Given the description of an element on the screen output the (x, y) to click on. 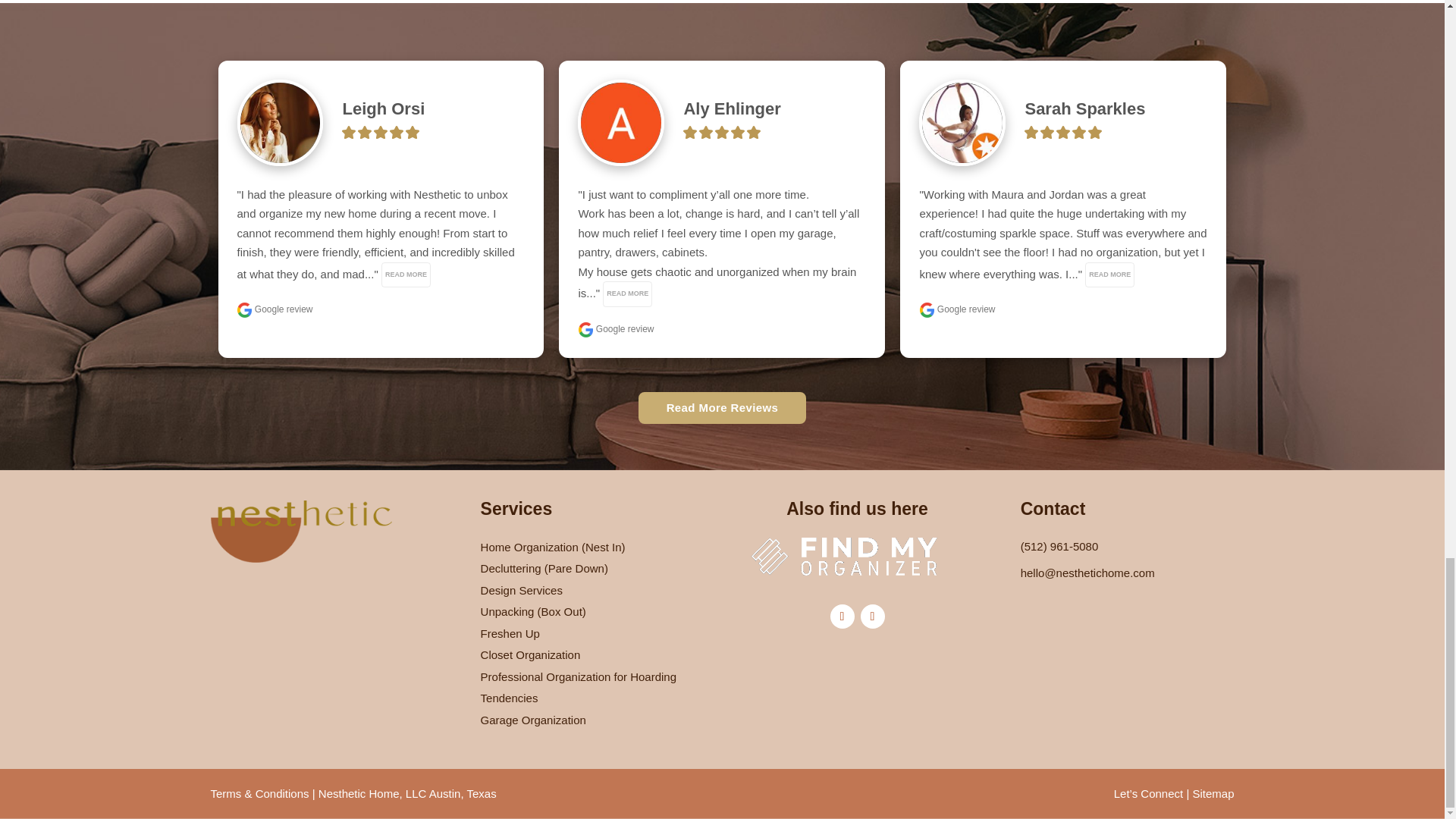
Follow on Facebook (841, 616)
Follow on Instagram (872, 616)
logo (302, 531)
